Given the description of an element on the screen output the (x, y) to click on. 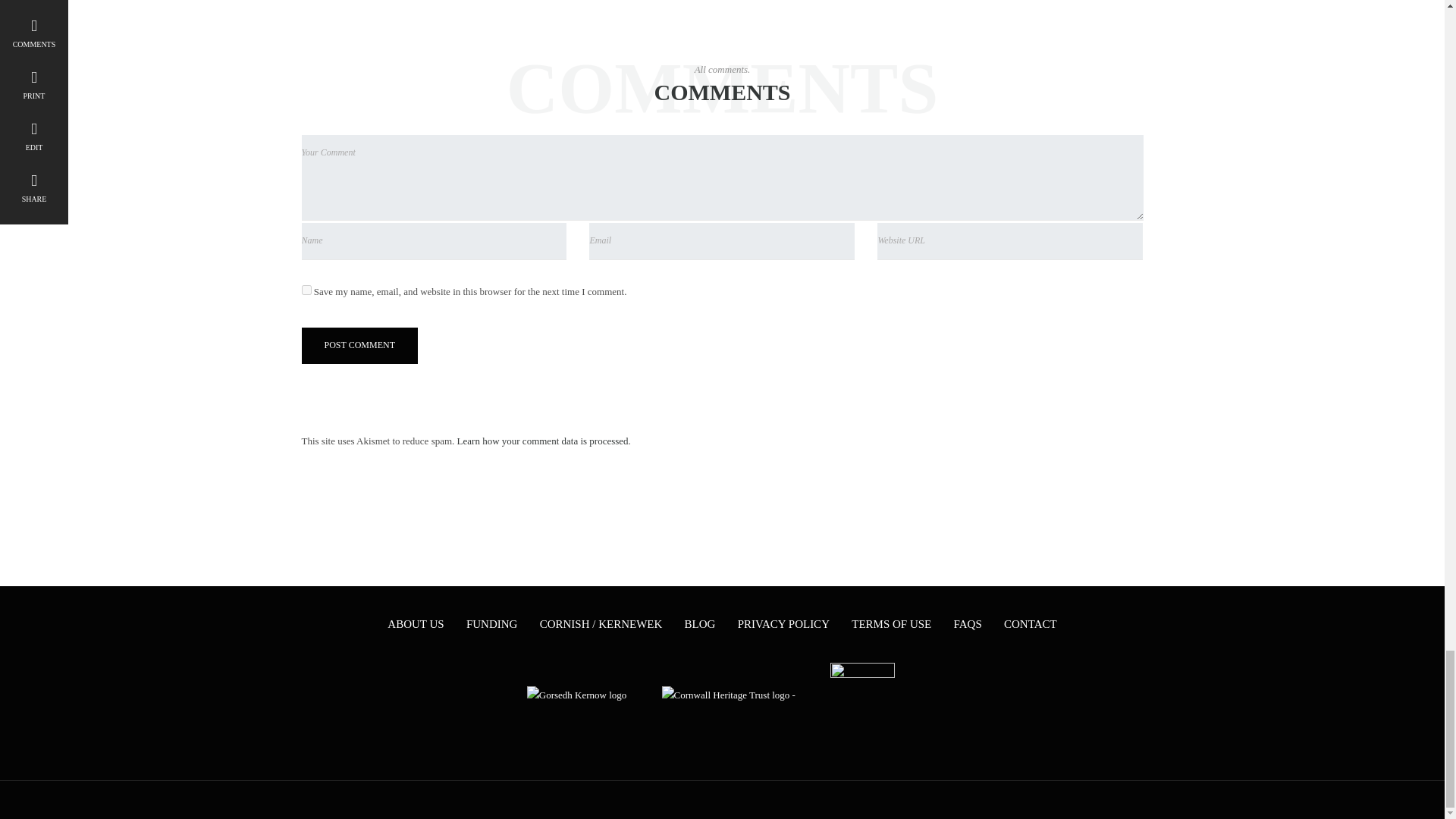
Post Comment (359, 345)
yes (306, 289)
